Given the description of an element on the screen output the (x, y) to click on. 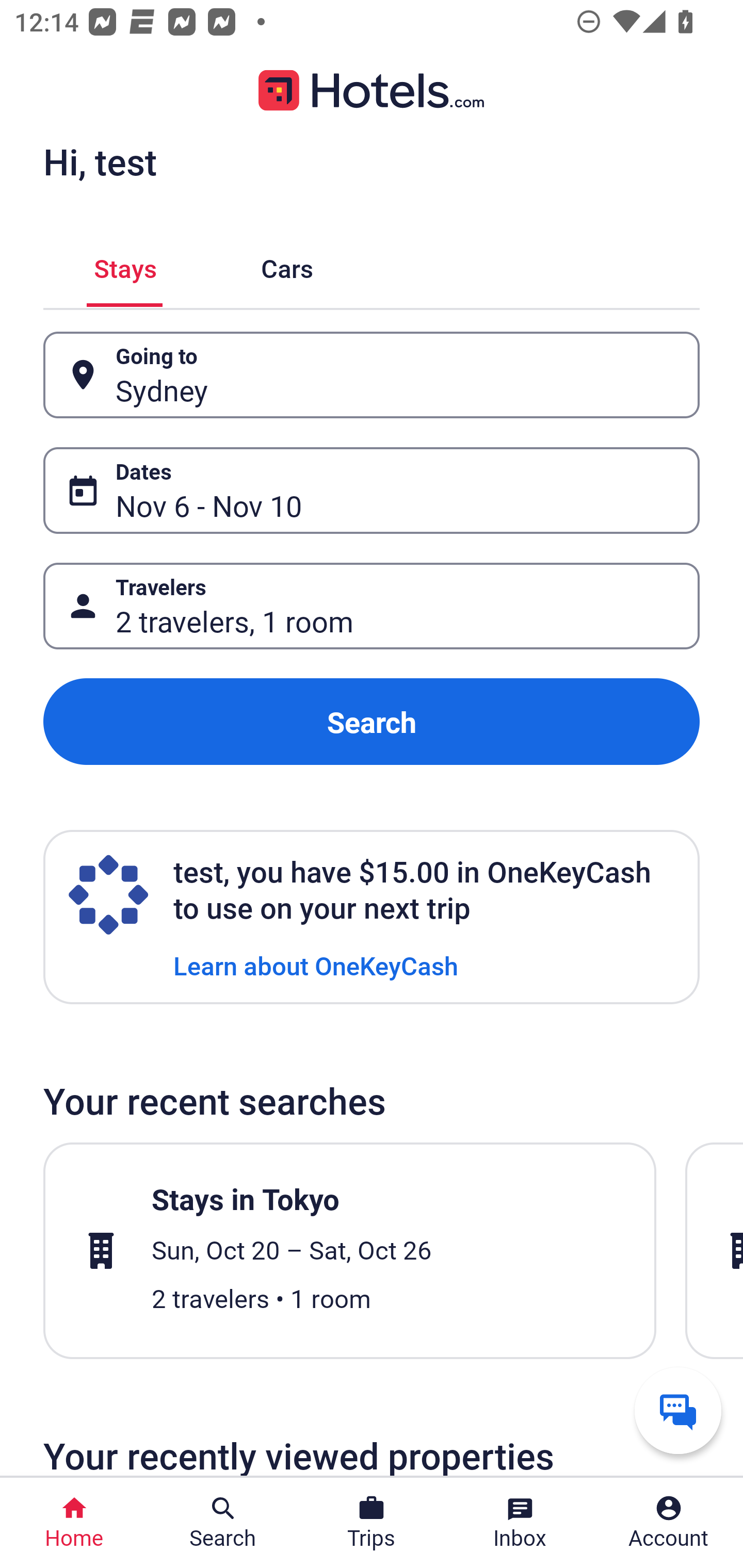
Hi, test (99, 161)
Cars (286, 265)
Going to Button Sydney (371, 375)
Dates Button Nov 6 - Nov 10 (371, 489)
Travelers Button 2 travelers, 1 room (371, 605)
Search (371, 721)
Learn about OneKeyCash Learn about OneKeyCash Link (315, 964)
Get help from a virtual agent (677, 1410)
Search Search Button (222, 1522)
Trips Trips Button (371, 1522)
Inbox Inbox Button (519, 1522)
Account Profile. Button (668, 1522)
